Given the description of an element on the screen output the (x, y) to click on. 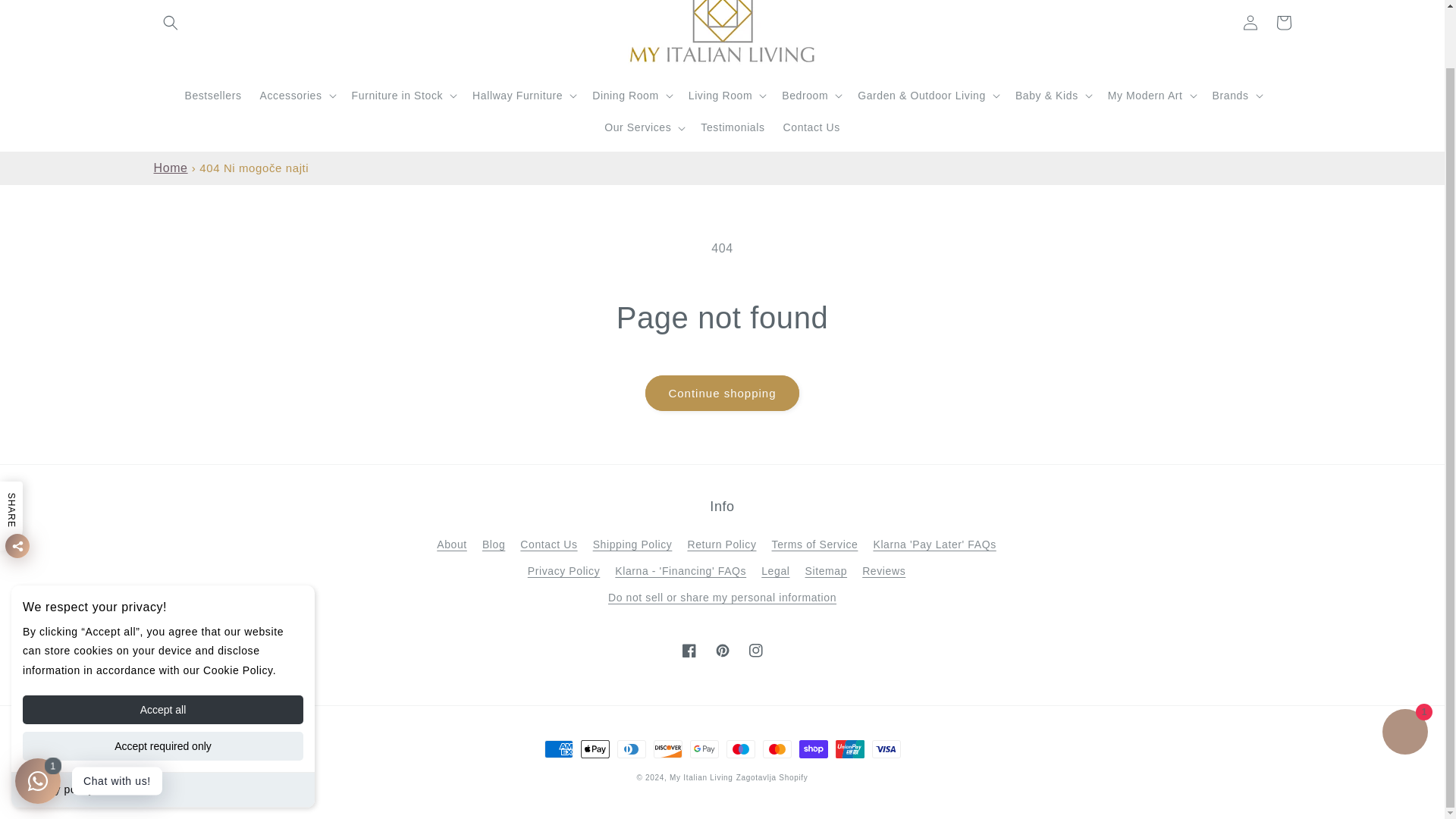
Home (169, 167)
Accept all (162, 646)
Accept required only (162, 683)
Klepet v spletni trgovini Shopify (1404, 670)
Privacy policy (58, 726)
